Given the description of an element on the screen output the (x, y) to click on. 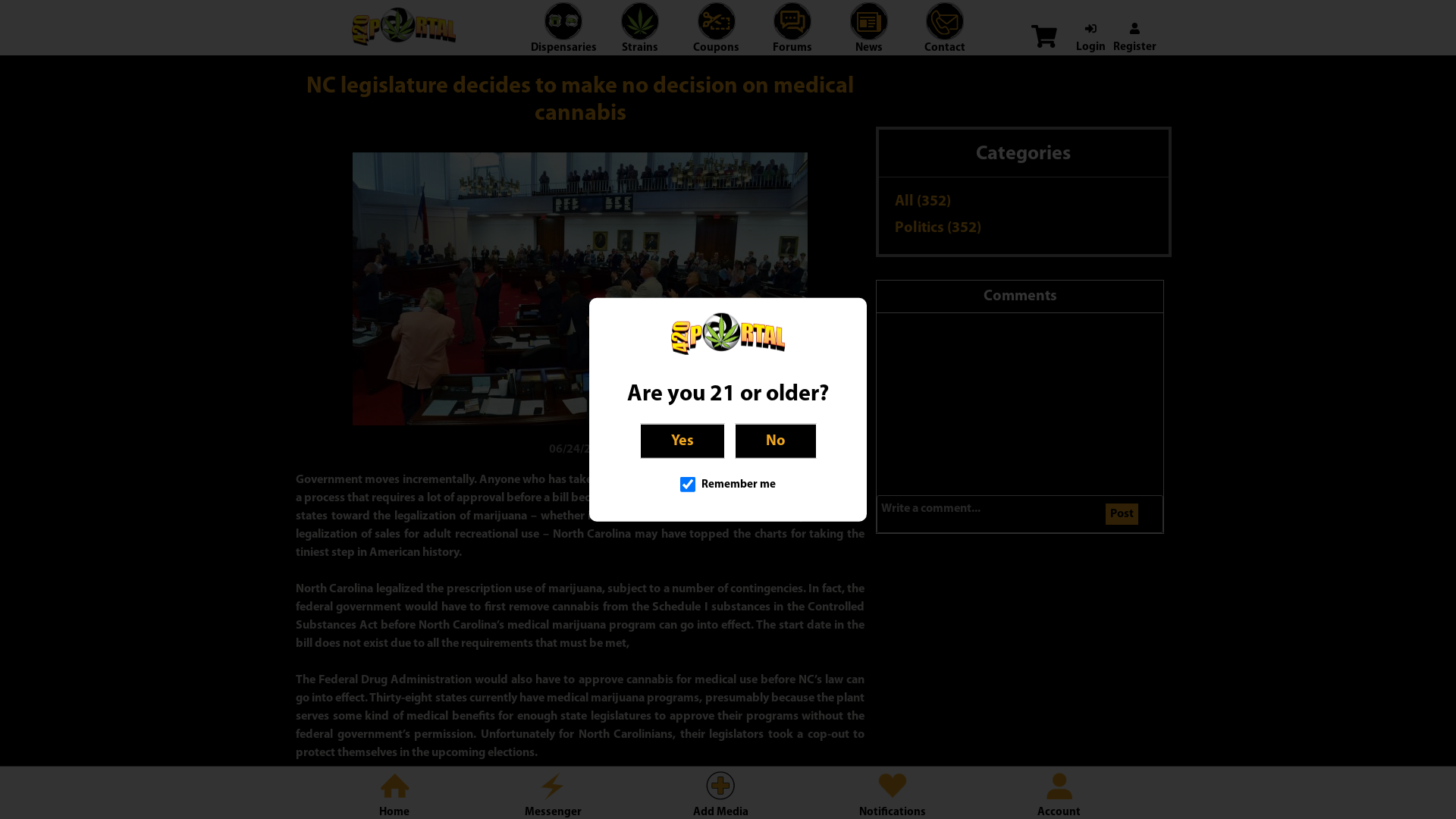
Use the TAB key to insert emoji faster Element type: hover (1151, 512)
Forums Element type: text (792, 36)
News Element type: text (869, 36)
Contact Element type: text (944, 36)
Login Element type: text (1090, 38)
Yes Element type: text (682, 440)
No Element type: text (774, 440)
Coupons Element type: text (715, 36)
Dispensaries Element type: text (563, 36)
Register Element type: text (1134, 38)
Strains Element type: text (640, 36)
